Given the description of an element on the screen output the (x, y) to click on. 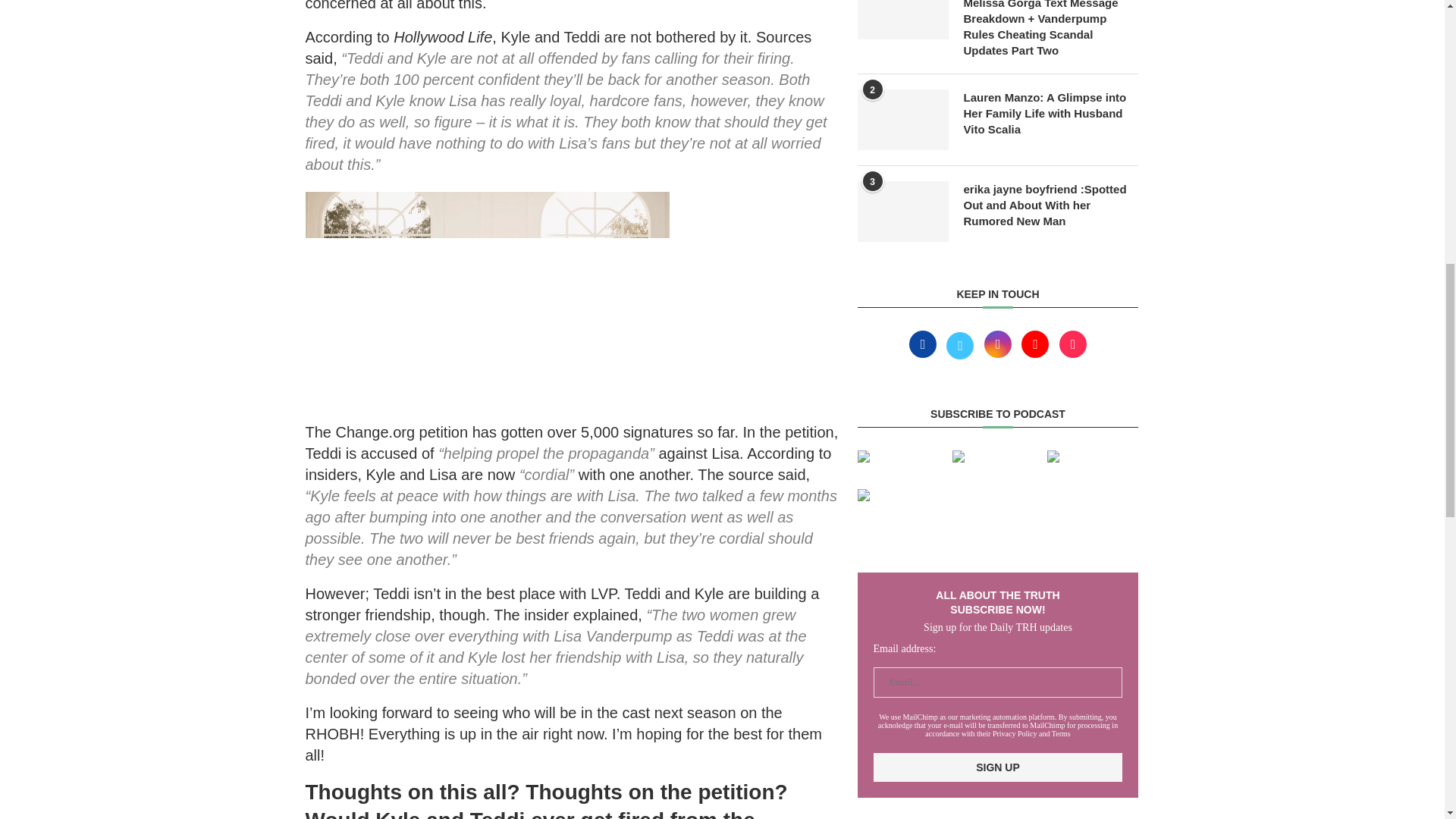
Sign Up (997, 767)
